Given the description of an element on the screen output the (x, y) to click on. 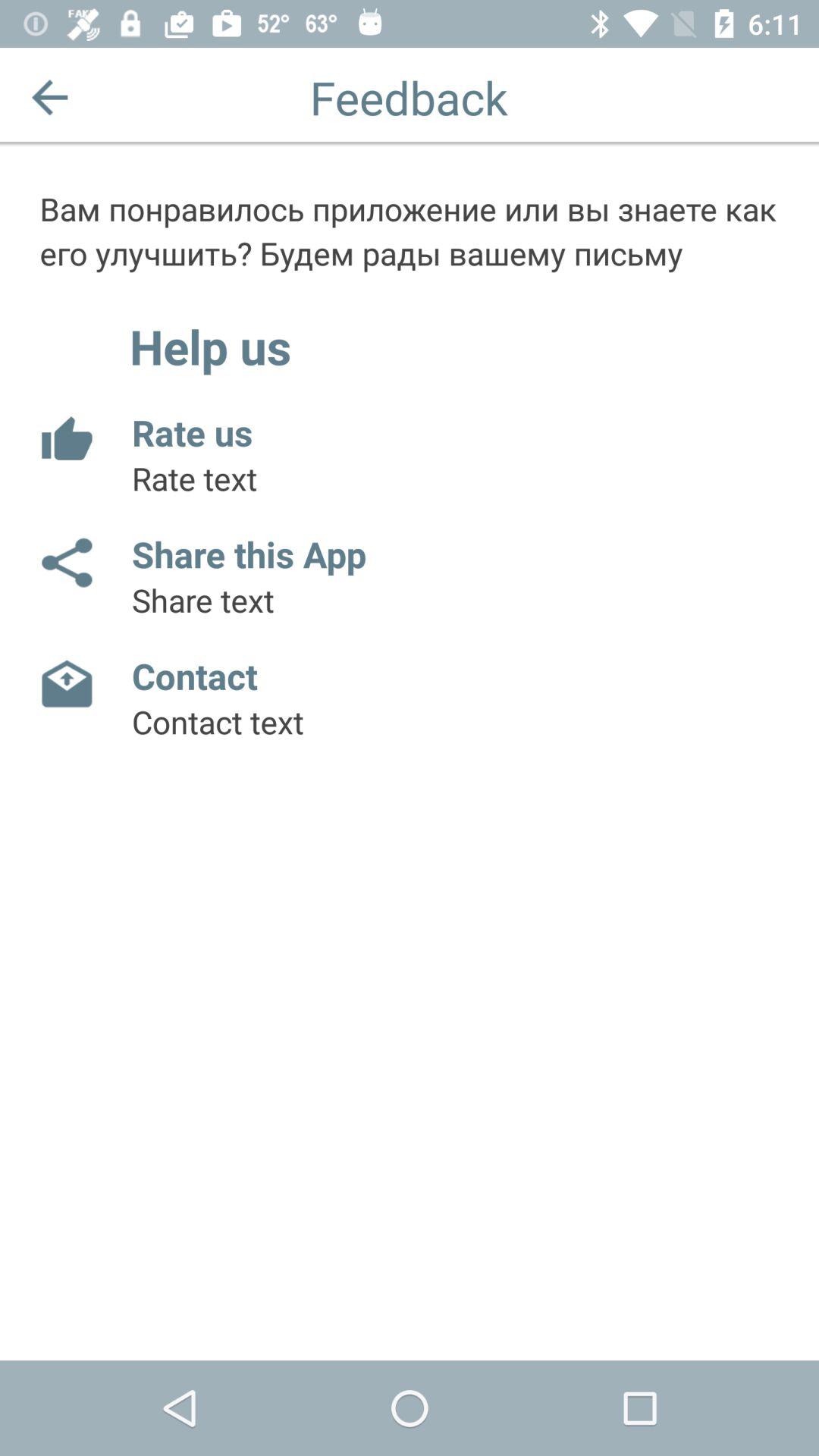
rate the text (65, 440)
